Given the description of an element on the screen output the (x, y) to click on. 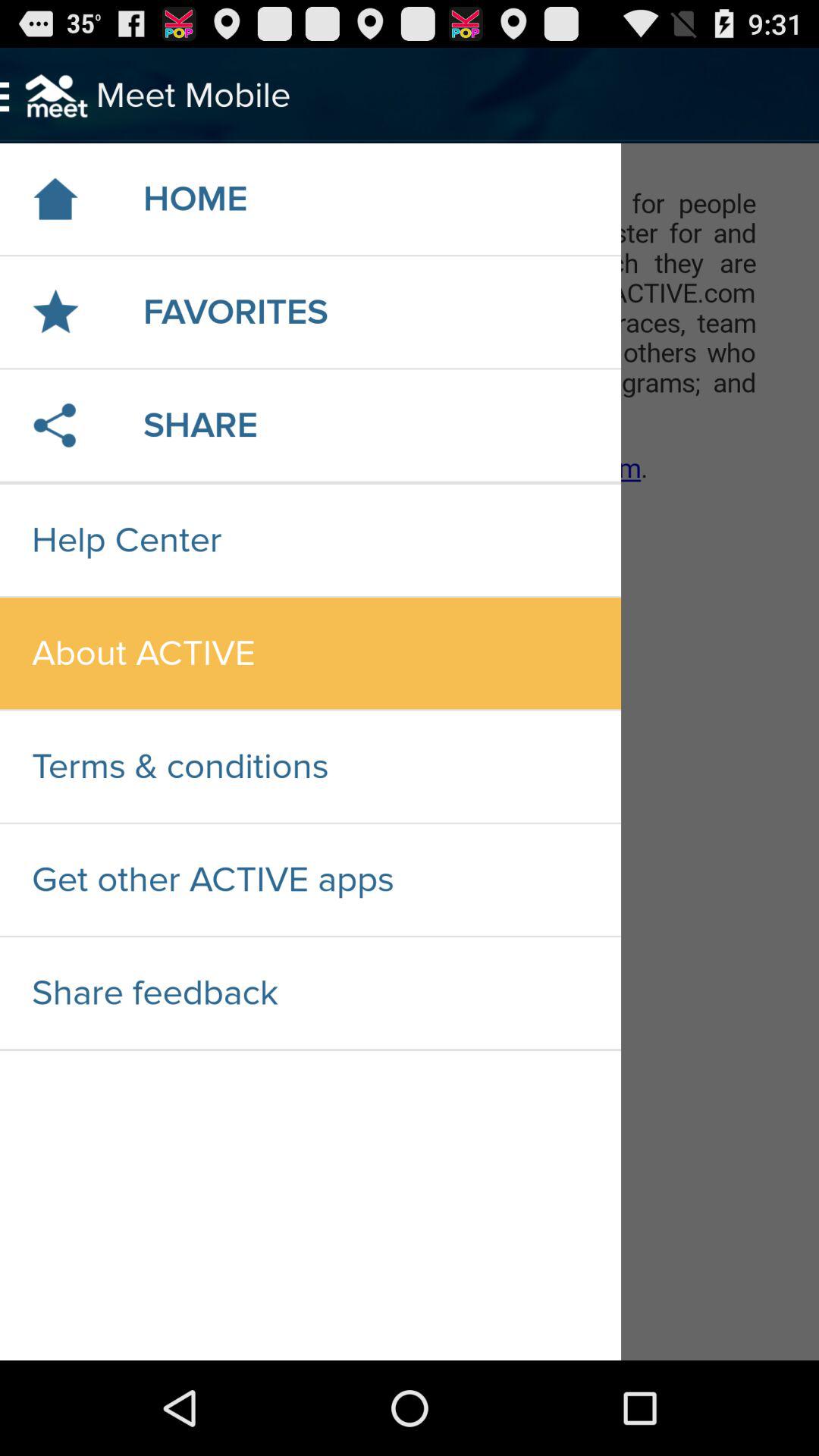
highlight the whole page (409, 751)
